Given the description of an element on the screen output the (x, y) to click on. 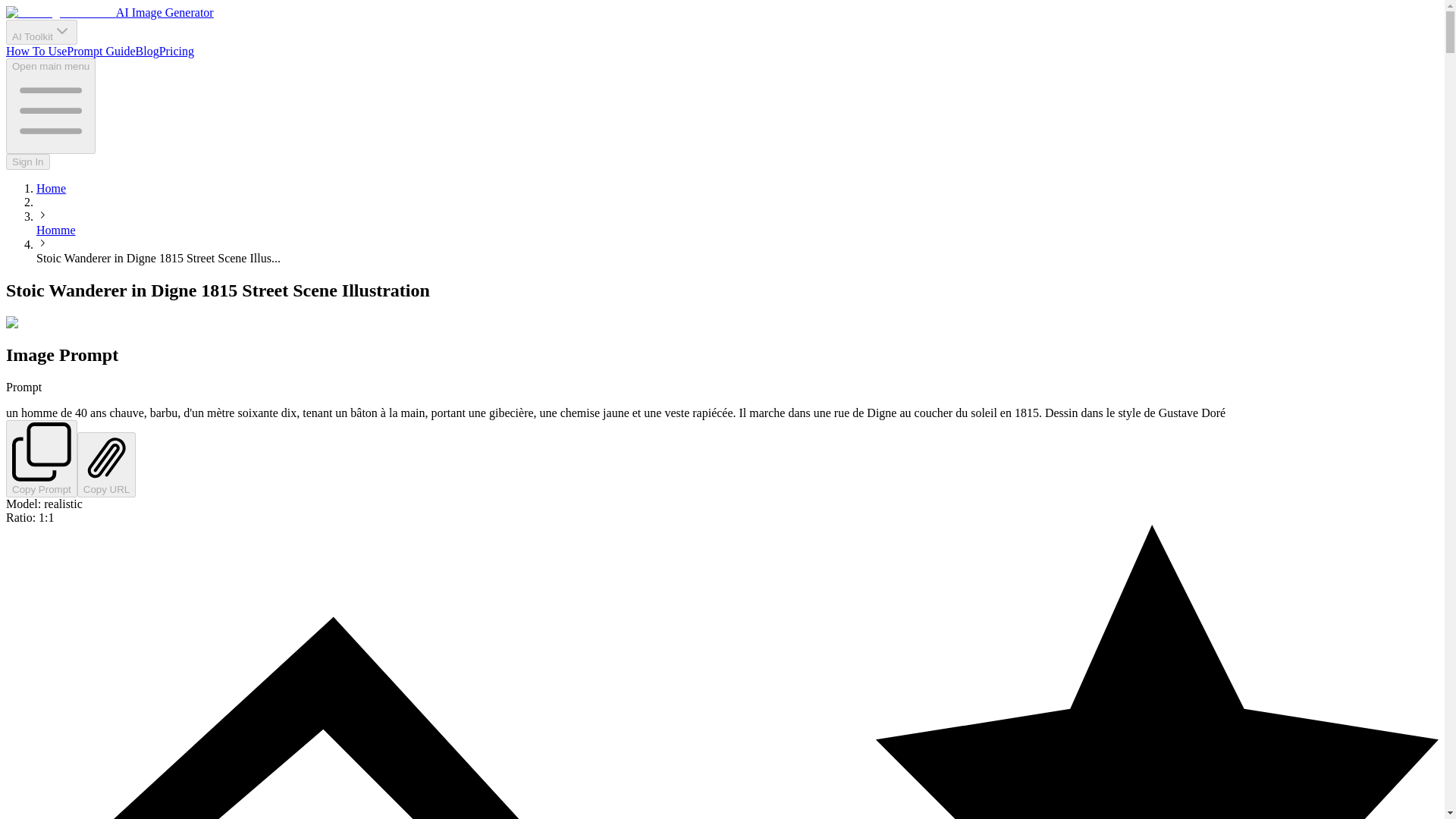
AI Image Generator (109, 11)
AI Toolkit (41, 32)
Copy URL (106, 464)
Prompt Guide (100, 51)
Pricing (175, 51)
Blog (146, 51)
Open main menu (50, 105)
Homme (55, 229)
How To Use (35, 51)
Copy Prompt (41, 458)
Home (50, 187)
Sign In (27, 161)
